Given the description of an element on the screen output the (x, y) to click on. 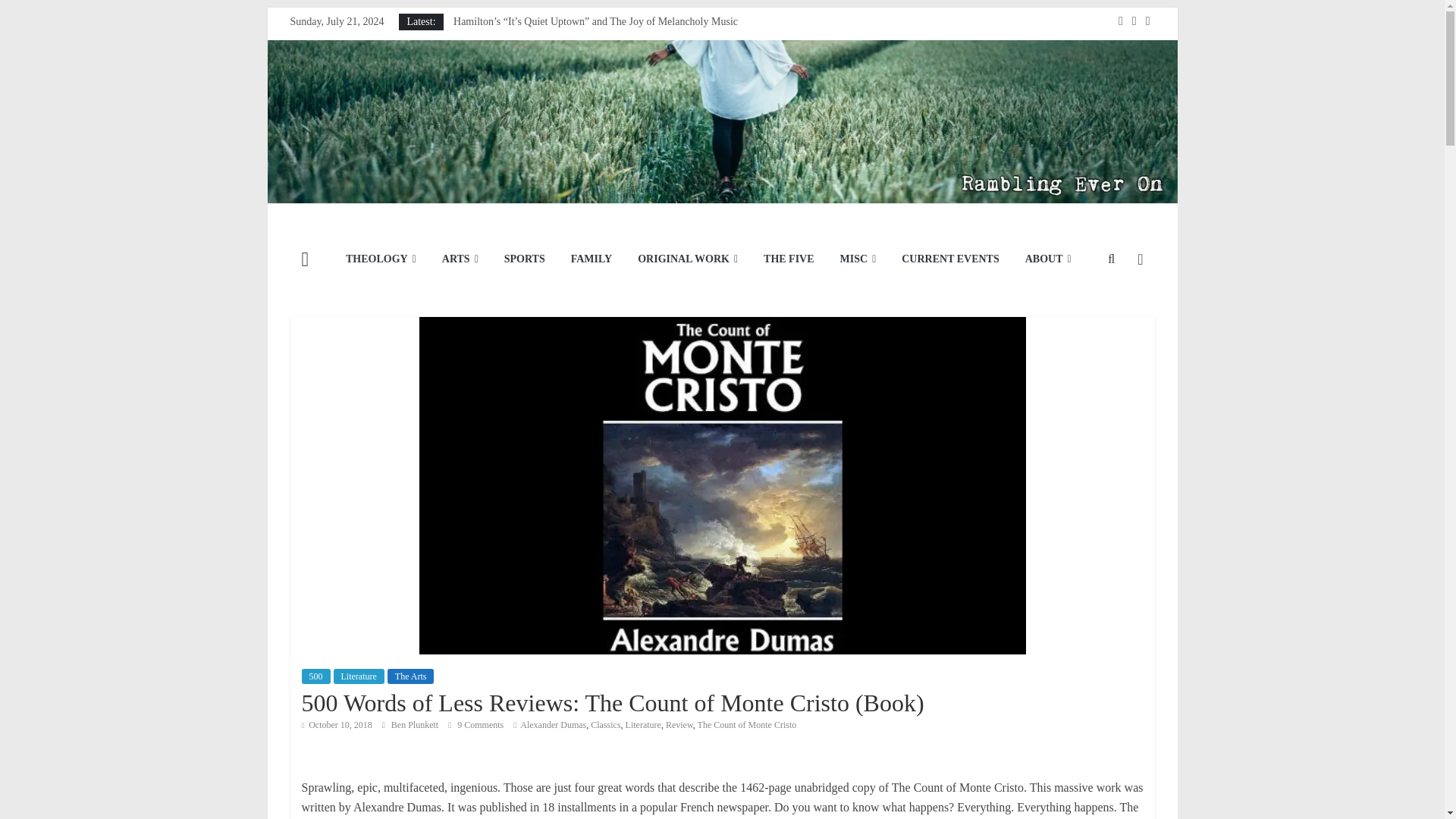
SPORTS (524, 259)
MISC (858, 259)
Literature (358, 676)
Easter is Over. Now What? (510, 89)
THEOLOGY (381, 259)
ARTS (459, 259)
Rambling Ever On (721, 49)
The Arts (410, 676)
Ben Plunkett (416, 724)
Easter is Over. Now What? (510, 89)
12:21 pm (336, 724)
500 (315, 676)
FAMILY (591, 259)
